Given the description of an element on the screen output the (x, y) to click on. 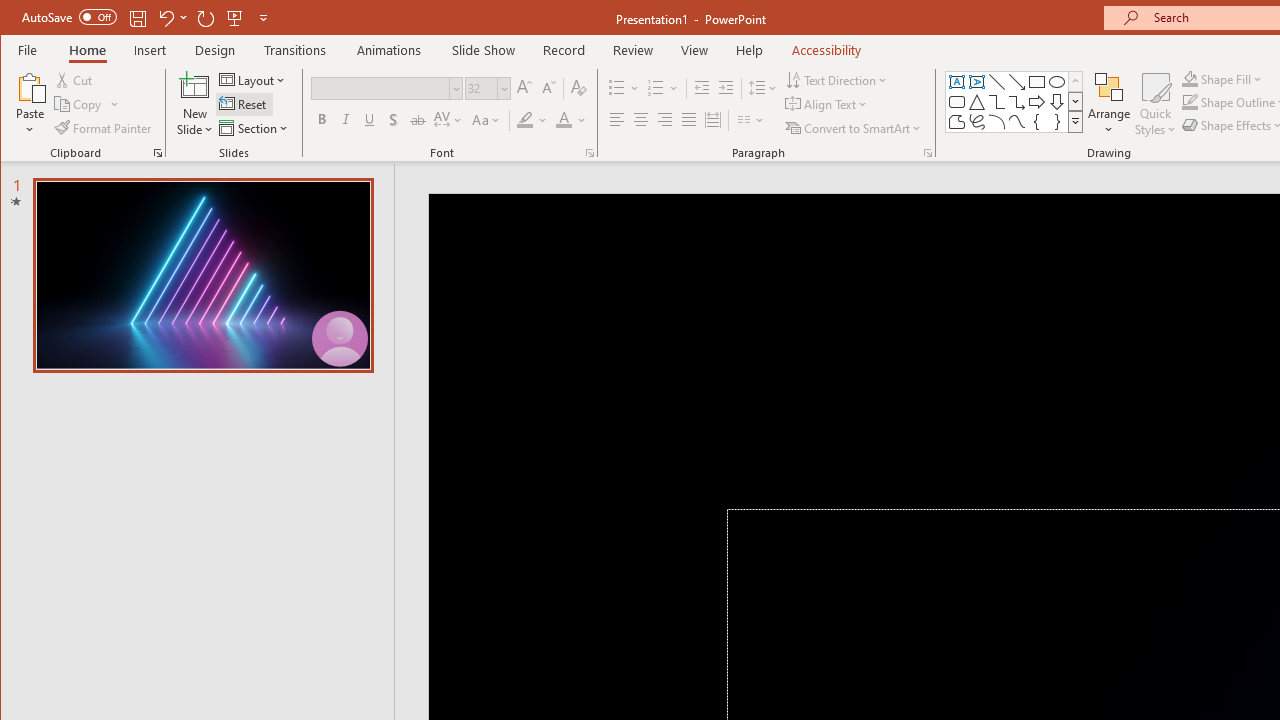
Right Brace (1057, 121)
Align Left (616, 119)
Line (996, 82)
Arrange (1108, 104)
Oval (1057, 82)
Line Arrow (1016, 82)
Freeform: Shape (956, 121)
